Given the description of an element on the screen output the (x, y) to click on. 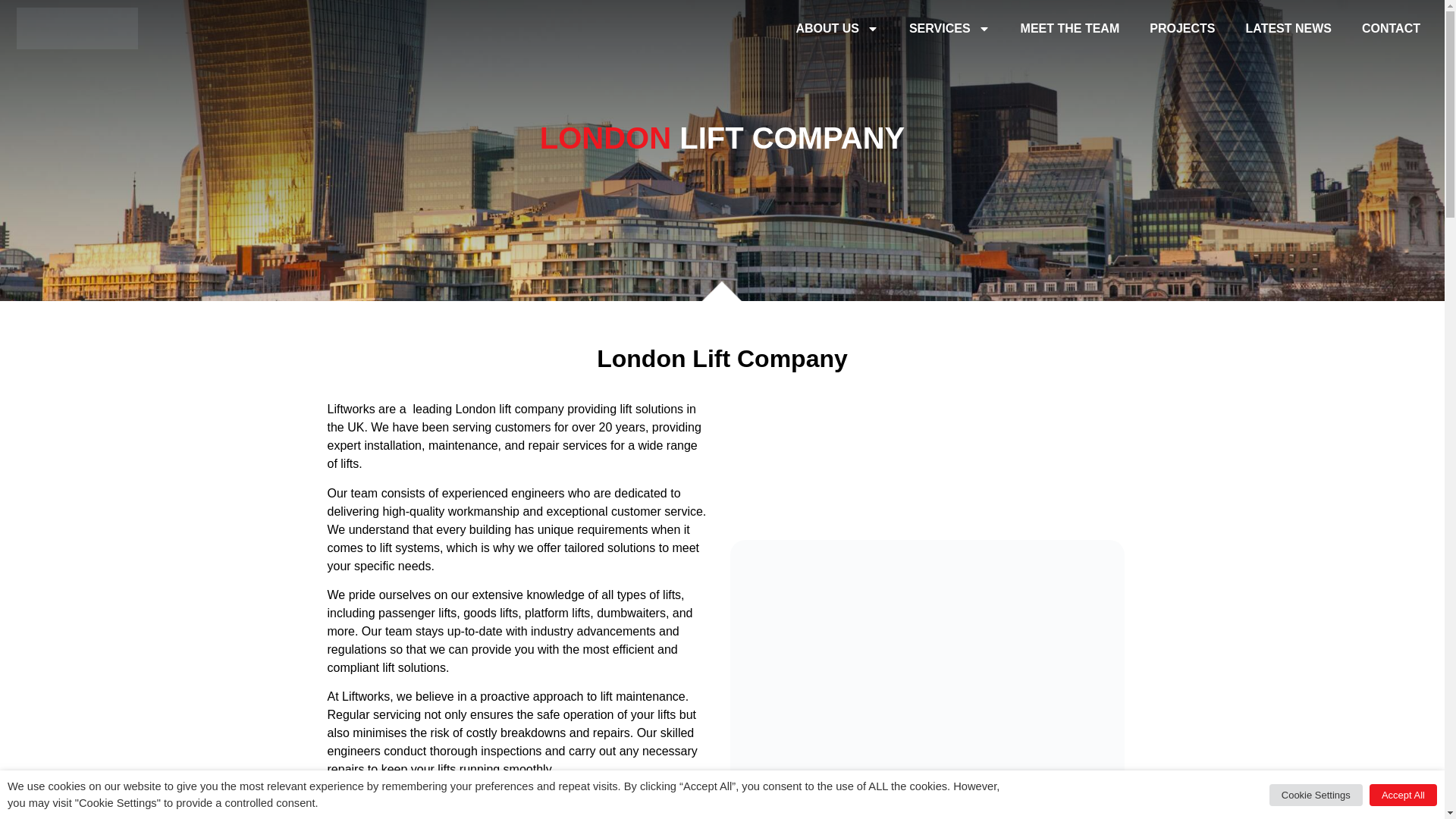
MEET THE TEAM (1070, 28)
ABOUT US (836, 28)
LATEST NEWS (1287, 28)
CONTACT (1390, 28)
PROJECTS (1182, 28)
SERVICES (949, 28)
